Given the description of an element on the screen output the (x, y) to click on. 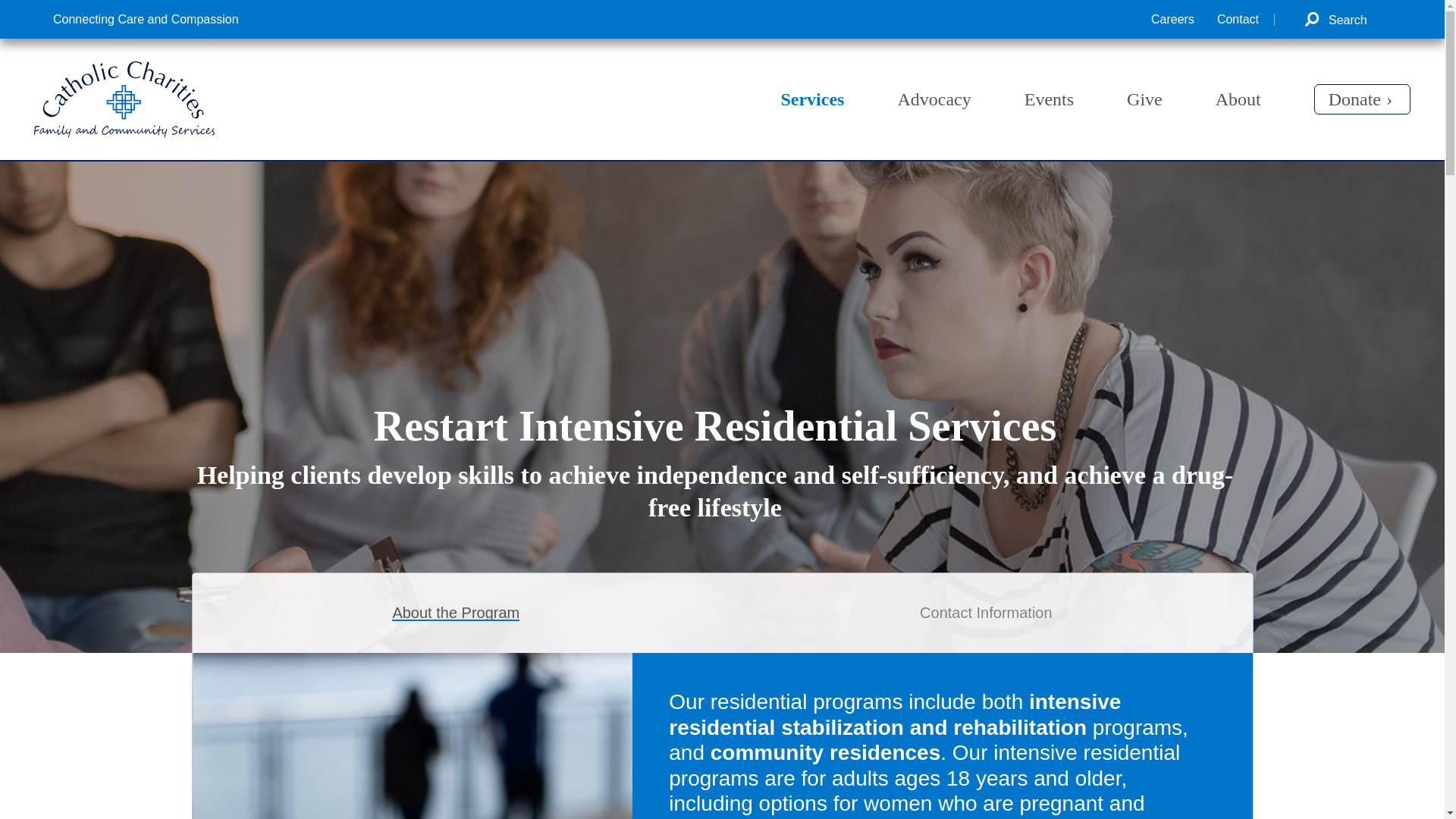
Careers (1172, 19)
Contact Information (986, 612)
Advocacy (933, 106)
Contact (1246, 19)
Services (812, 106)
About the Program (455, 612)
Catholic Charities Family and Community Services (123, 132)
Donate (1362, 99)
